Given the description of an element on the screen output the (x, y) to click on. 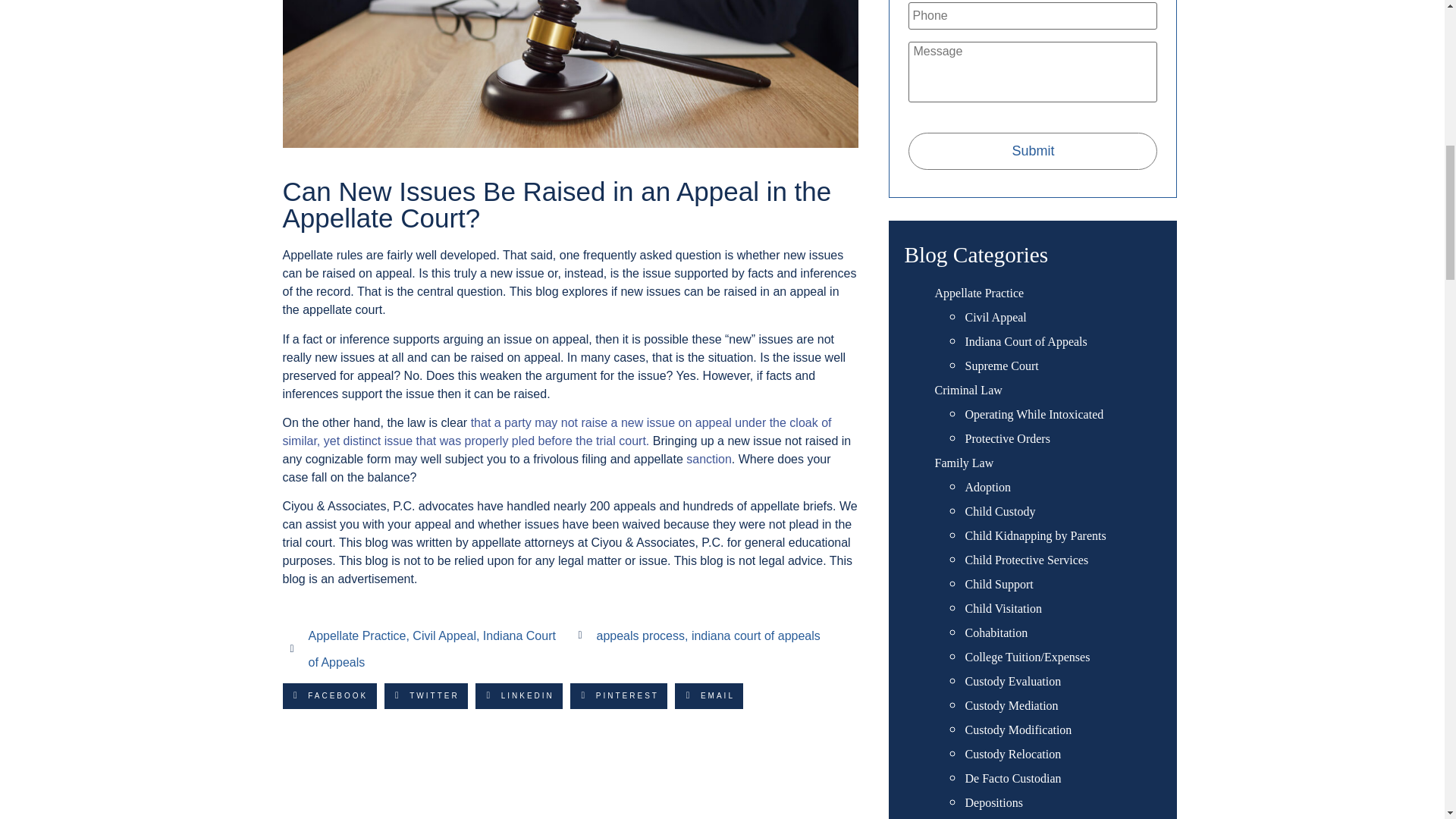
Submit (1032, 150)
appeals process (639, 635)
sanction (708, 459)
Submit (1032, 150)
Appellate Practice (356, 635)
indiana court of appeals (756, 635)
Indiana Court of Appeals (430, 649)
Civil Appeal (444, 635)
